Given the description of an element on the screen output the (x, y) to click on. 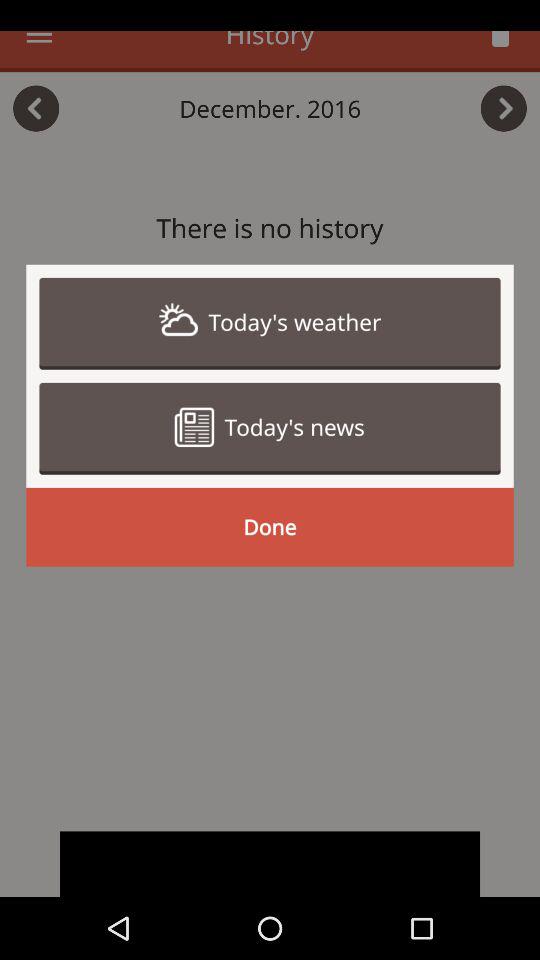
press button below done button (270, 863)
